Given the description of an element on the screen output the (x, y) to click on. 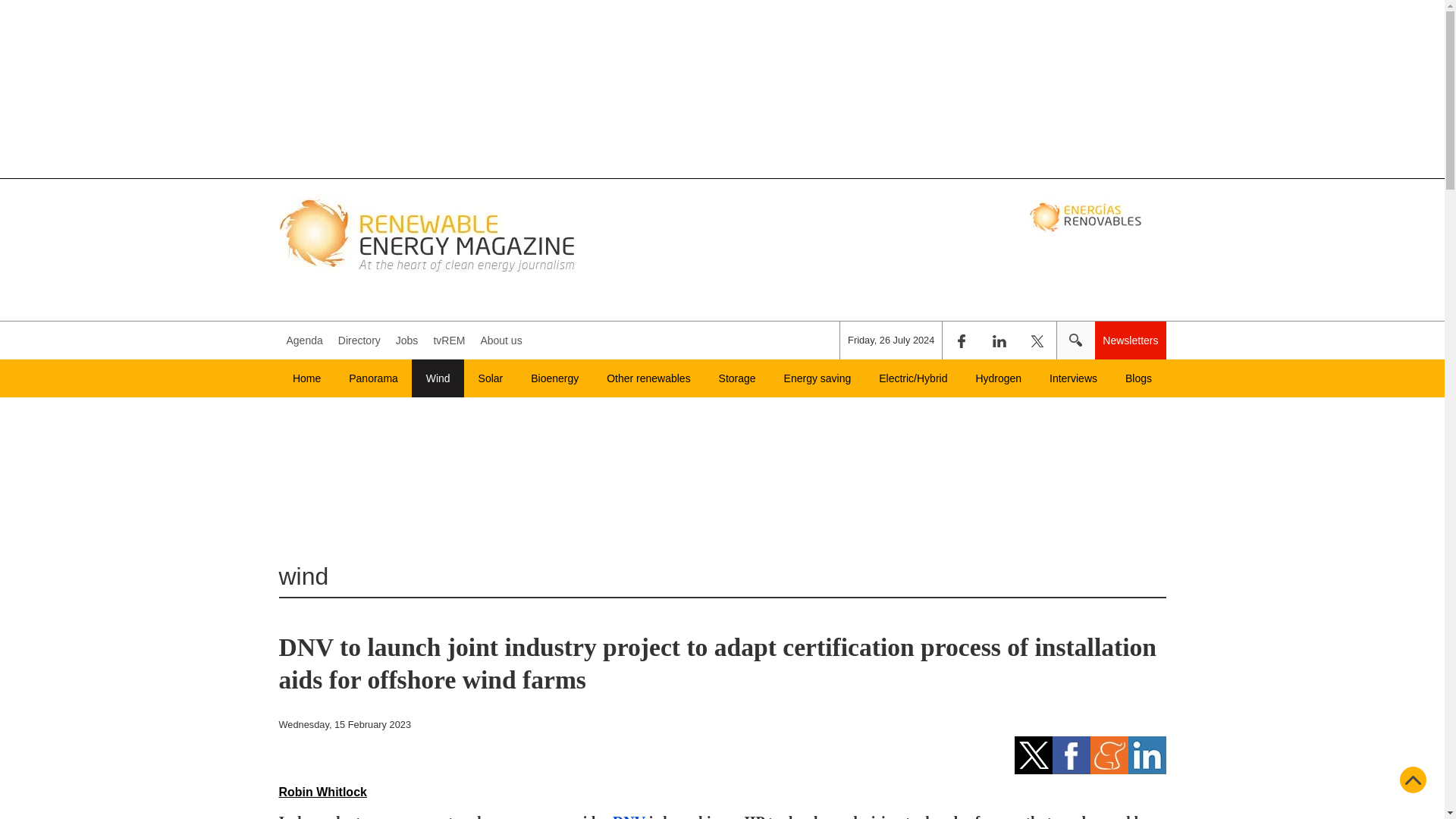
Jobs (407, 340)
Go to About us (500, 340)
Go to Wind (438, 378)
Storage (737, 378)
Directory (359, 340)
Energy saving (817, 378)
Go to Videos (448, 340)
Go to Agenda (304, 340)
Go to Panorama (373, 378)
Interviews (1073, 378)
